Given the description of an element on the screen output the (x, y) to click on. 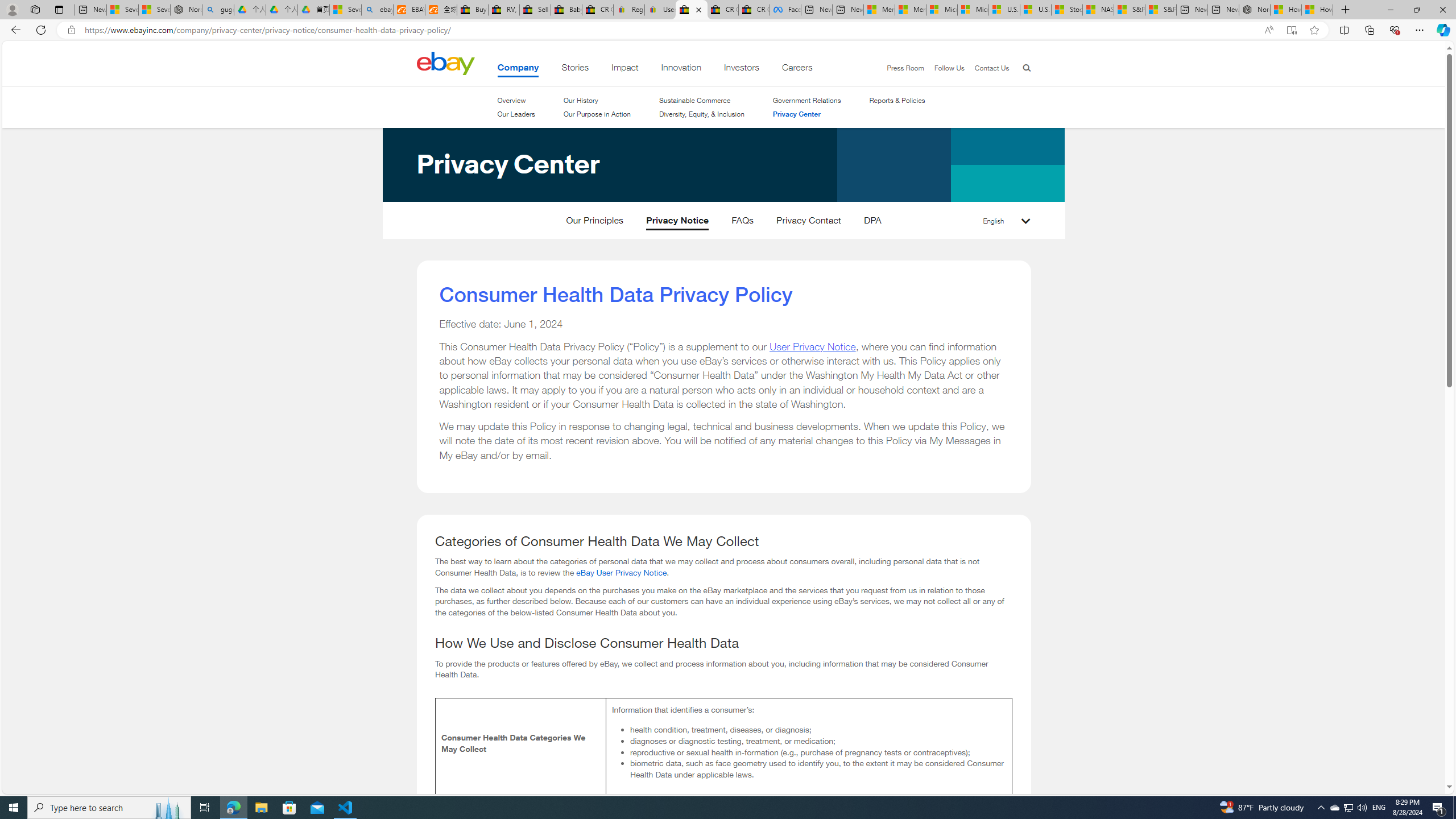
S&P 500, Nasdaq end lower, weighed by Nvidia dip | Watch (1160, 9)
Our History (580, 99)
Class: desktop (445, 63)
Company . This is the current section. (517, 69)
Company (517, 69)
DPA (871, 222)
User Privacy Notice (812, 345)
Investors (740, 69)
